Given the description of an element on the screen output the (x, y) to click on. 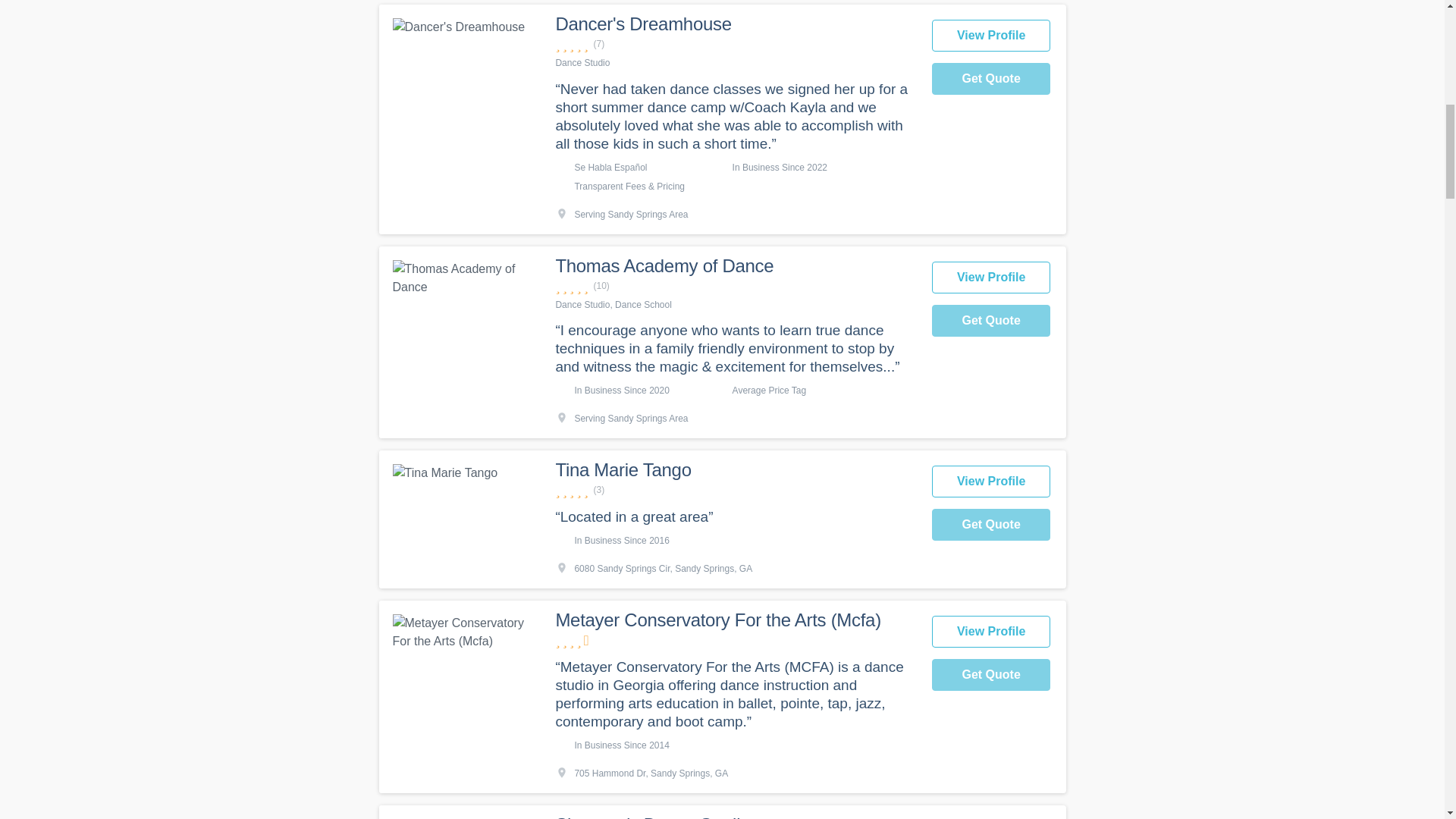
4.8 (734, 286)
5.0 (734, 490)
Get Quote (991, 320)
4.2 (734, 640)
Get Quote (991, 524)
Get Quote (991, 79)
5.0 (734, 43)
